Given the description of an element on the screen output the (x, y) to click on. 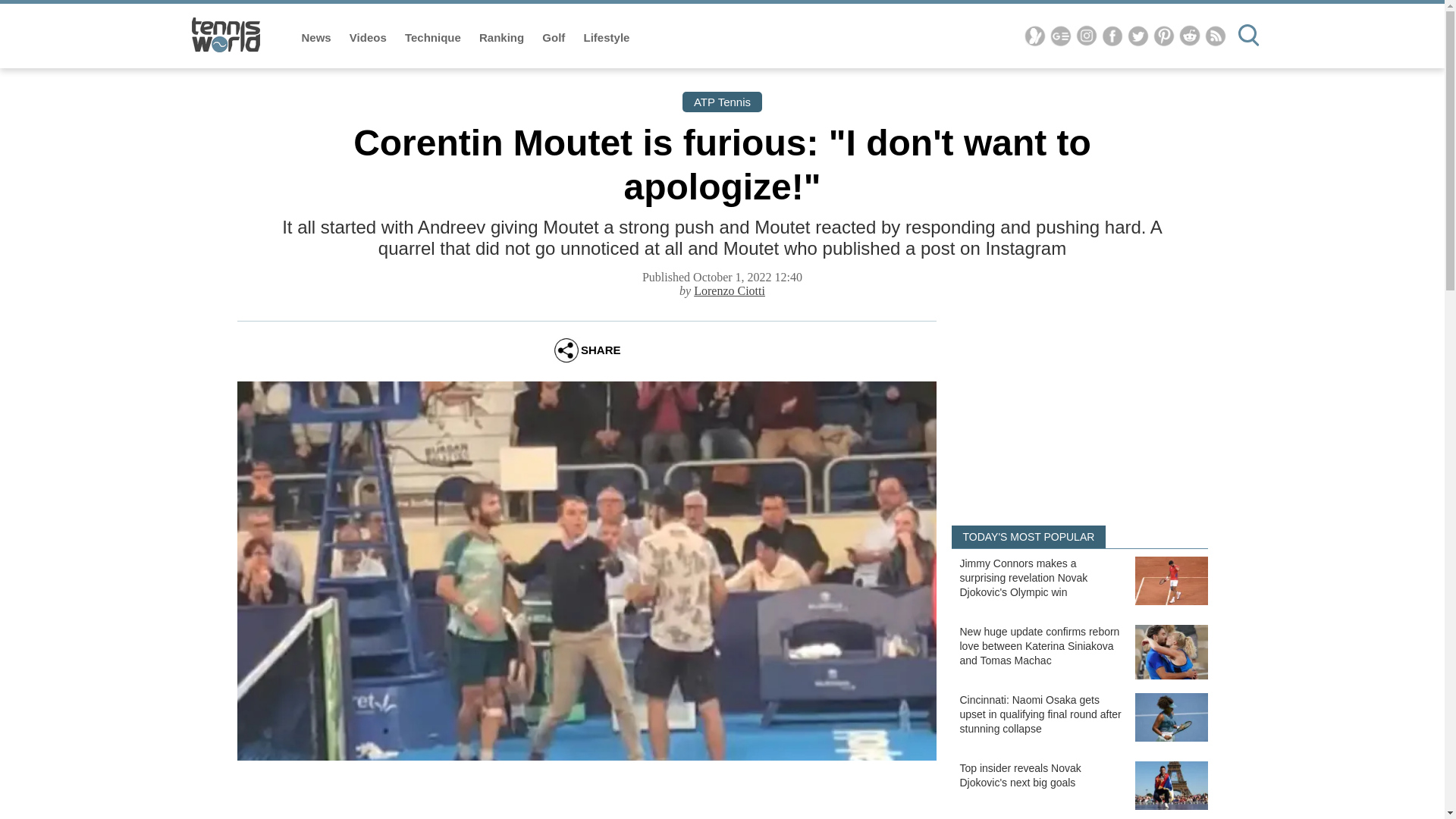
News (317, 37)
Golf (554, 37)
Ranking (503, 37)
Technique (434, 37)
Videos (369, 37)
Lifestyle (606, 37)
